Given the description of an element on the screen output the (x, y) to click on. 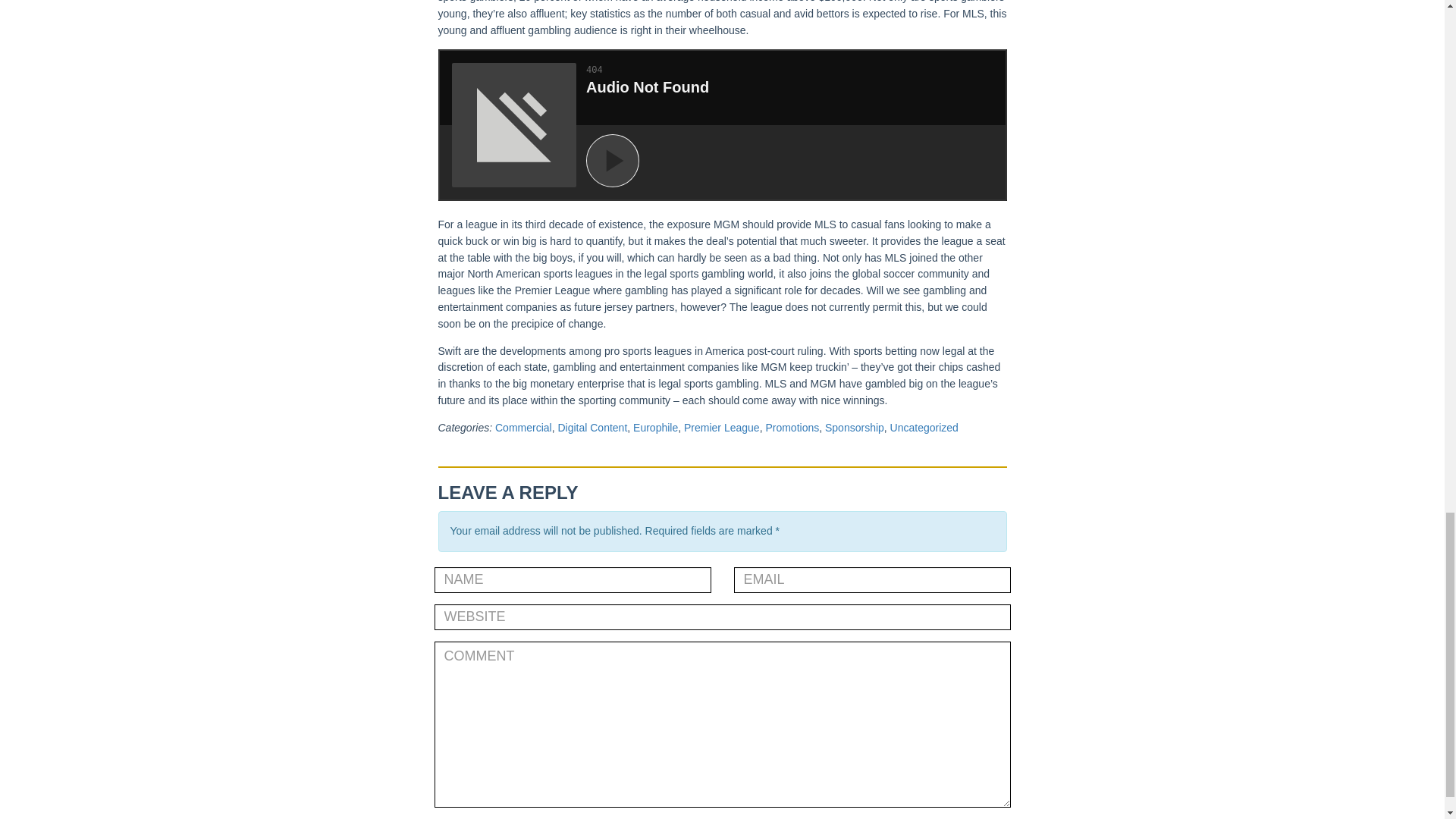
Promotions (791, 427)
Premier League (722, 427)
Sponsorship (854, 427)
Uncategorized (923, 427)
Commercial (523, 427)
Europhile (655, 427)
Digital Content (592, 427)
